Given the description of an element on the screen output the (x, y) to click on. 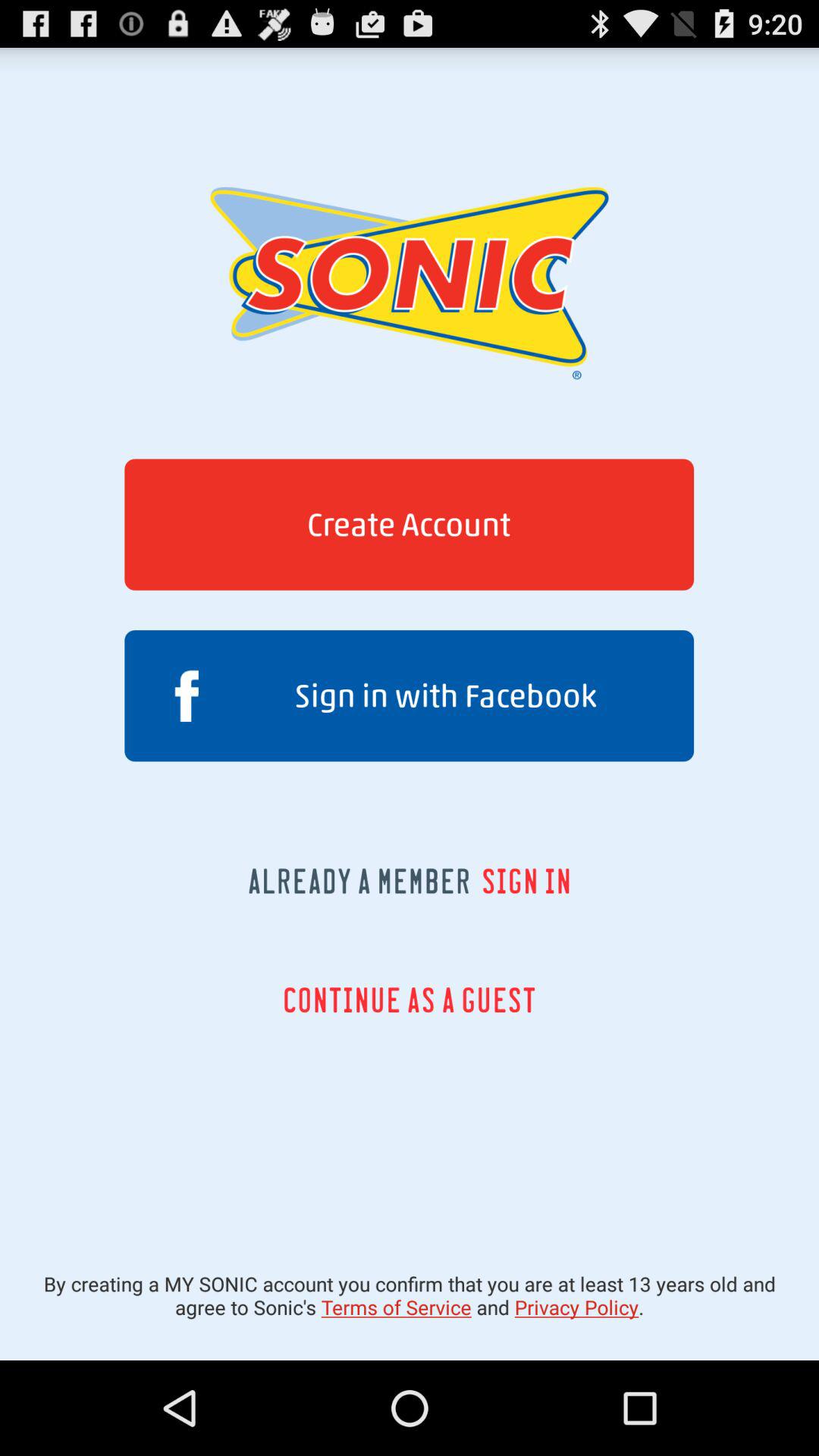
turn on the icon above by creating a app (409, 999)
